Given the description of an element on the screen output the (x, y) to click on. 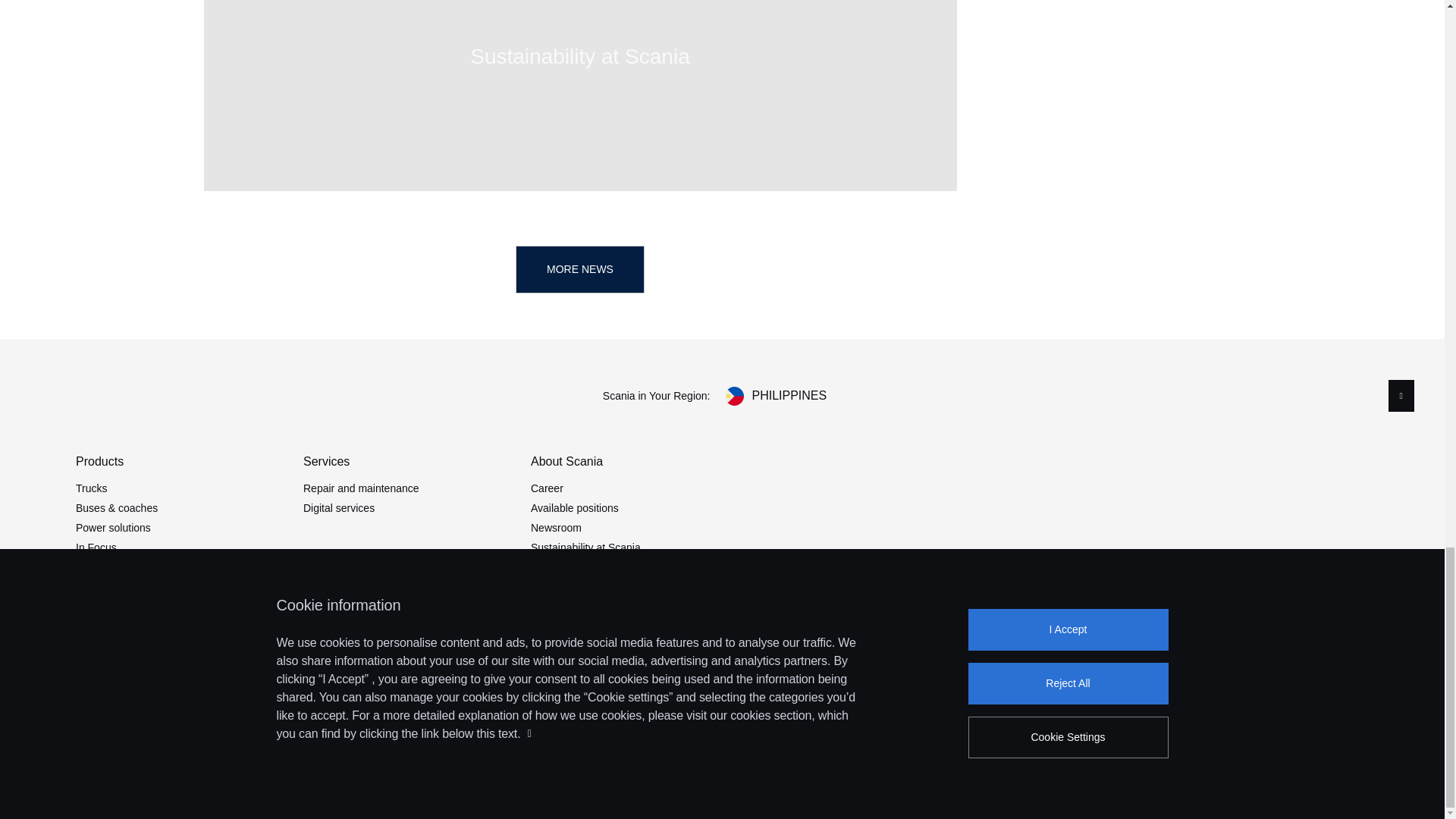
More news (580, 269)
